Given the description of an element on the screen output the (x, y) to click on. 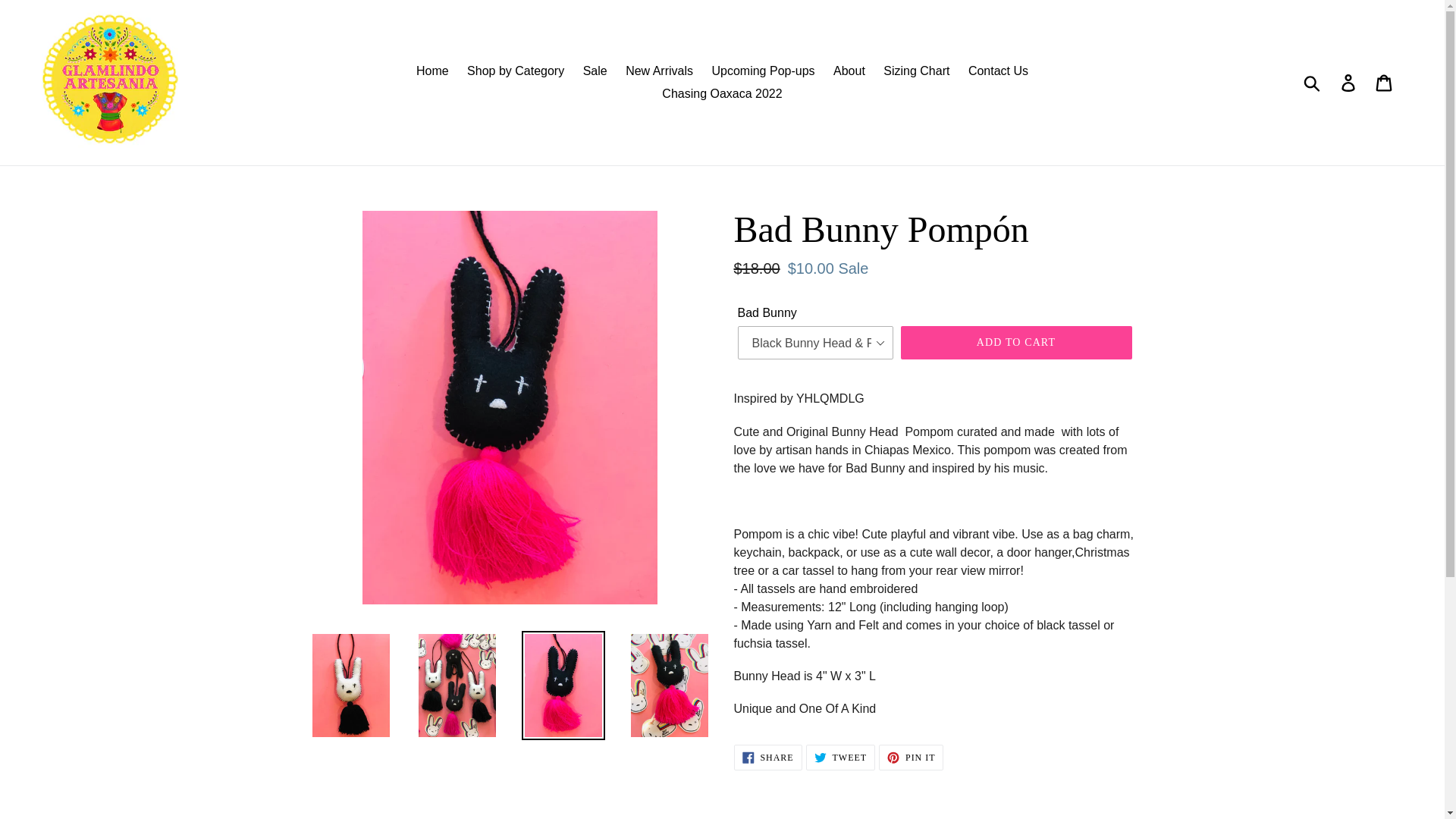
Submit (1313, 82)
Upcoming Pop-ups (762, 70)
Sale (594, 70)
About (848, 70)
Home (433, 70)
Cart (1385, 82)
ADD TO CART (1016, 342)
New Arrivals (658, 70)
Chasing Oaxaca 2022 (721, 93)
Sizing Chart (916, 70)
Shop by Category (516, 70)
Contact Us (911, 757)
Log in (997, 70)
